Given the description of an element on the screen output the (x, y) to click on. 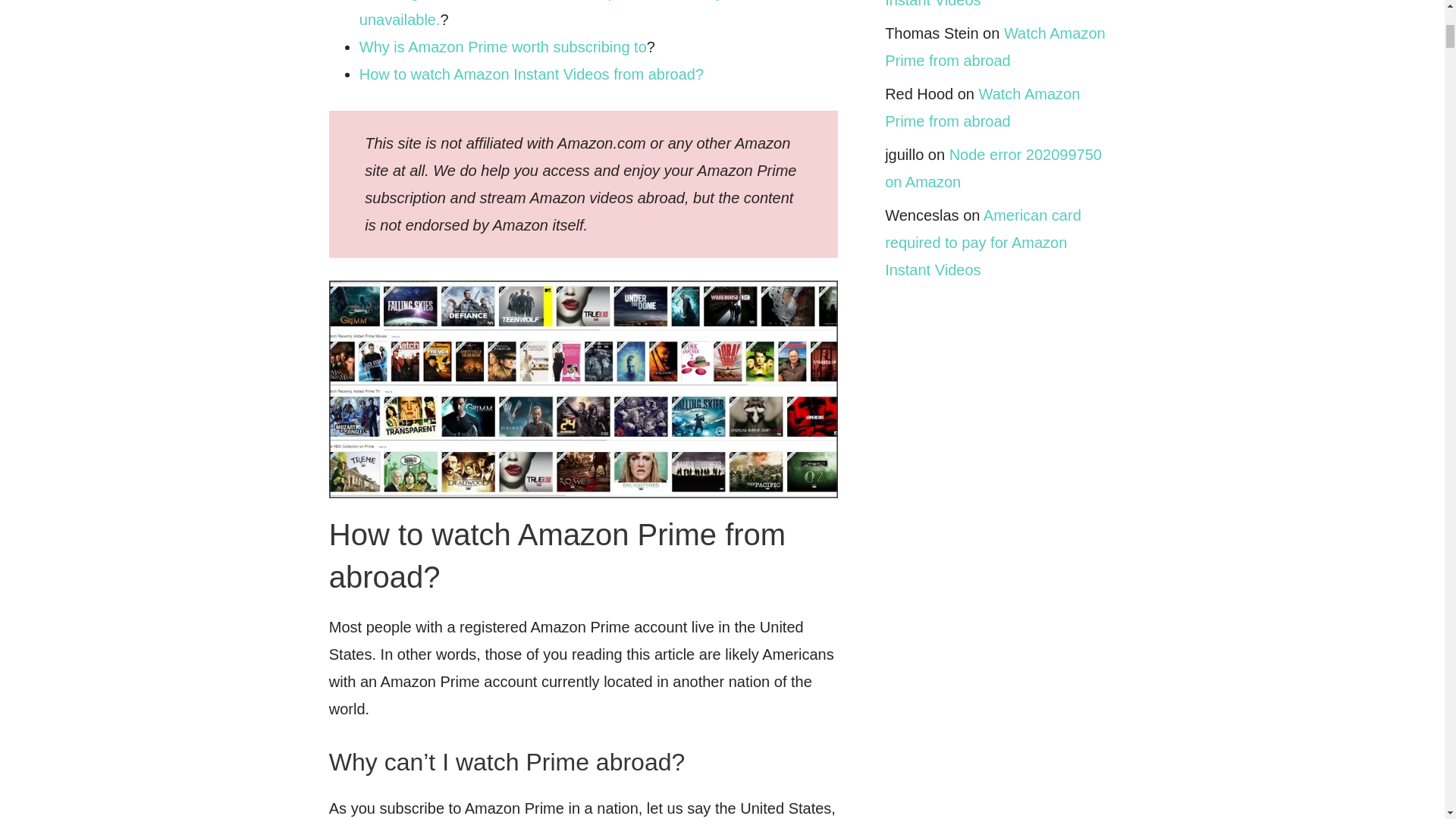
Why is Amazon Prime worth subscribing to (502, 46)
How to watch Amazon Instant Videos from abroad? (531, 74)
